Given the description of an element on the screen output the (x, y) to click on. 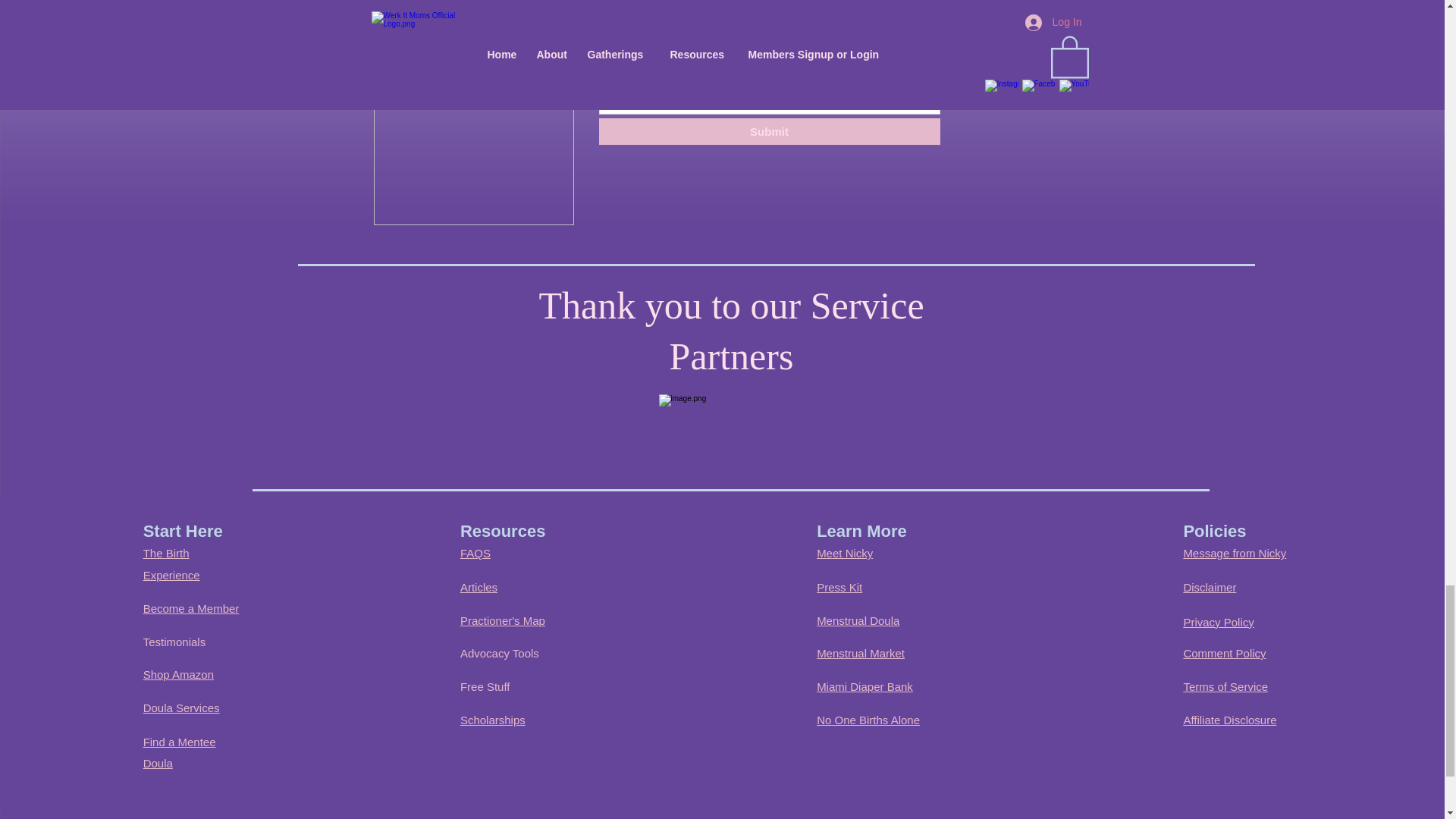
Werk It Moms Official Logo.png (472, 123)
